Given the description of an element on the screen output the (x, y) to click on. 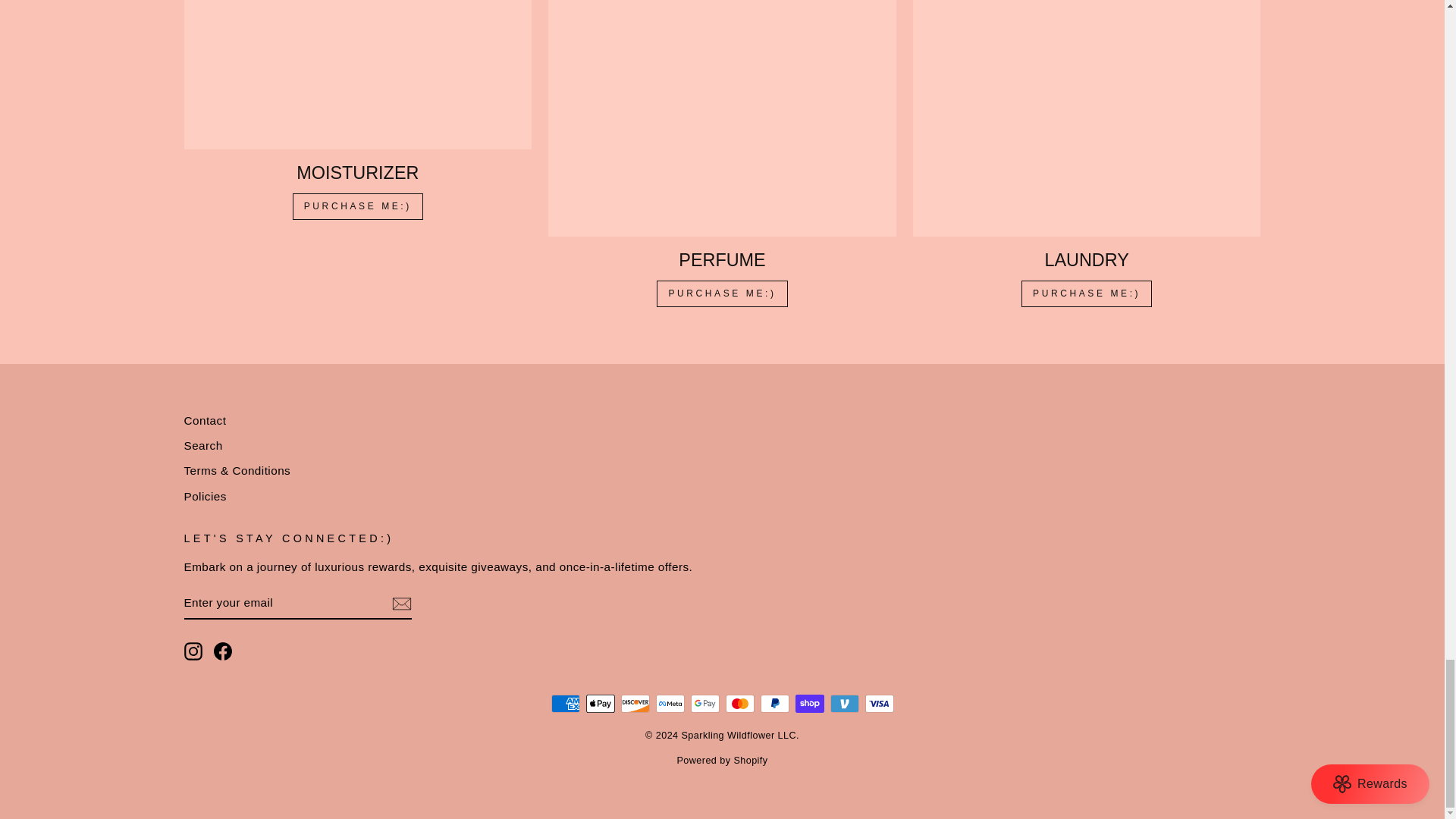
Sparkling Wildflower LLC. on Instagram (192, 651)
Sparkling Wildflower LLC. on Facebook (222, 651)
Mastercard (739, 703)
Google Pay (704, 703)
instagram (192, 651)
Apple Pay (599, 703)
Discover (634, 703)
PayPal (774, 703)
Shop Pay (809, 703)
icon-email (400, 603)
